Given the description of an element on the screen output the (x, y) to click on. 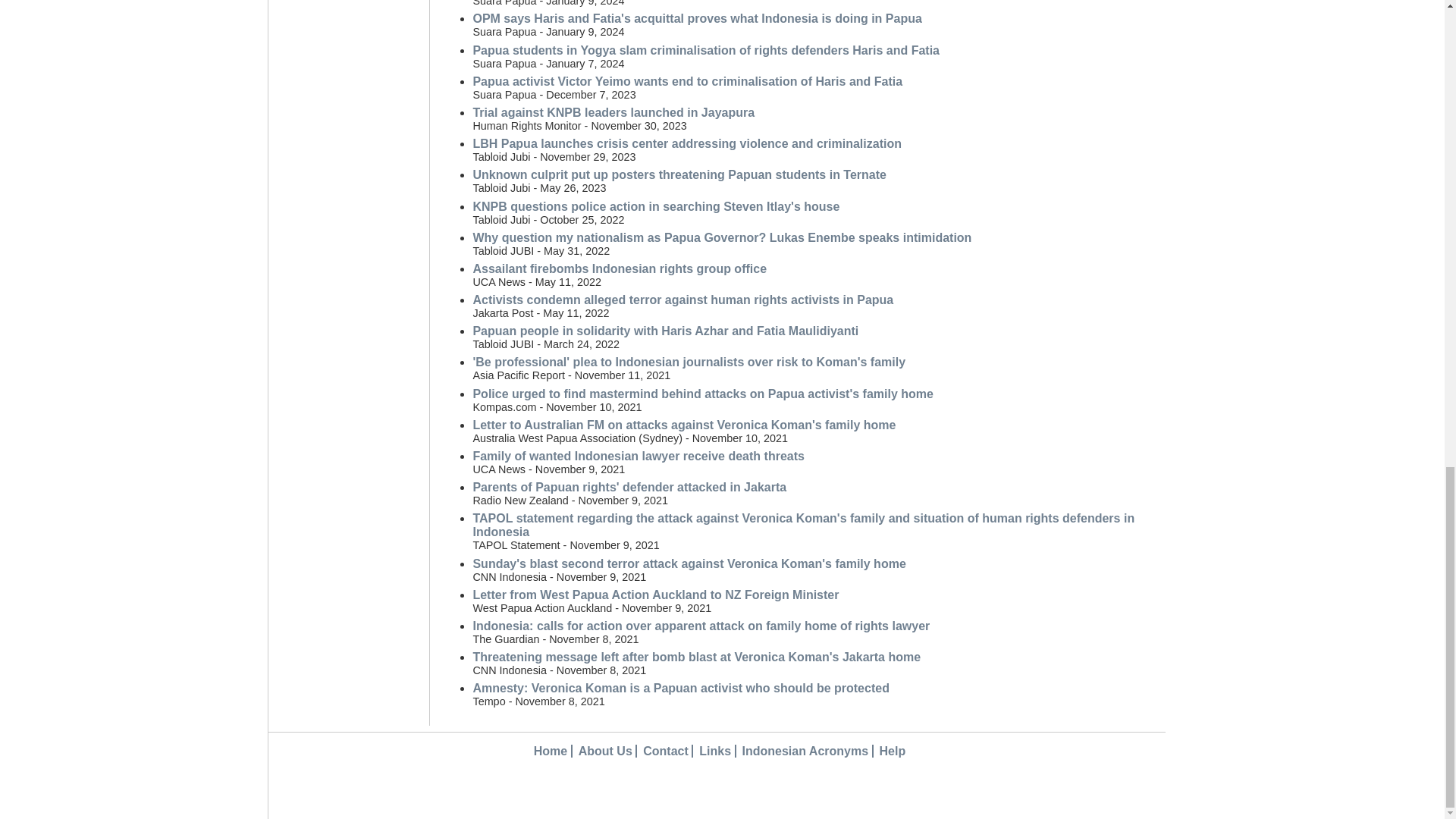
Parents of Papuan rights' defender attacked in Jakarta (628, 486)
Trial against KNPB leaders launched in Jayapura (612, 112)
